Given the description of an element on the screen output the (x, y) to click on. 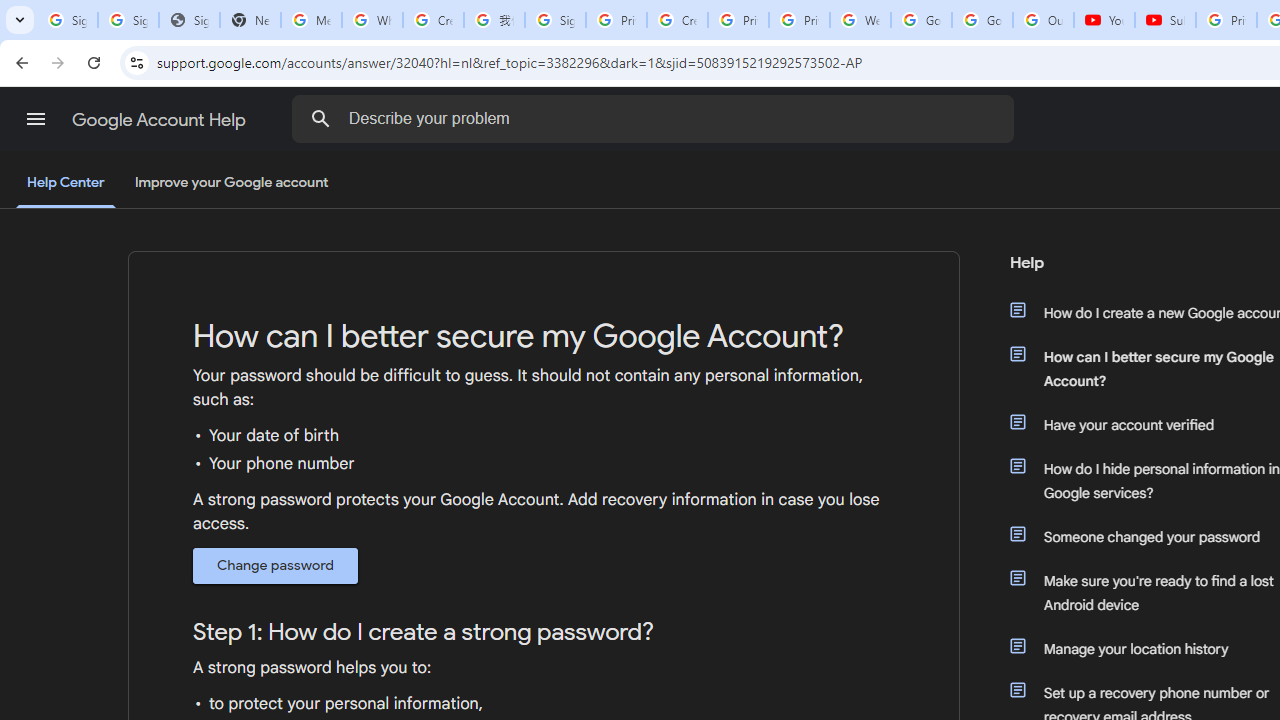
Subscriptions - YouTube (1165, 20)
Search the Help Center (320, 118)
Improve your Google account (231, 183)
Sign in - Google Accounts (555, 20)
Google Account (982, 20)
Welcome to My Activity (859, 20)
Help Center (65, 183)
